Given the description of an element on the screen output the (x, y) to click on. 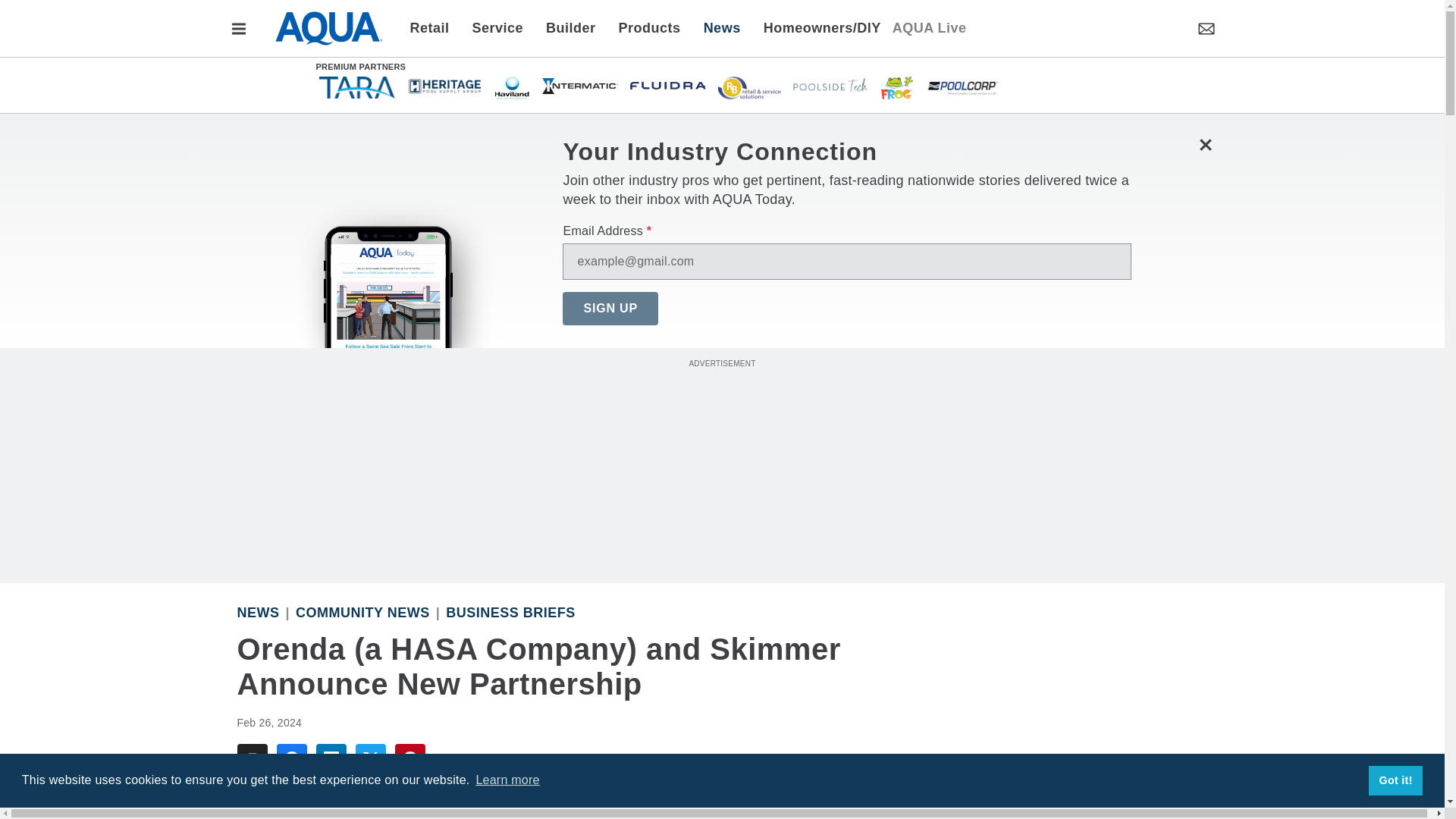
Retail (434, 27)
News (722, 27)
Service (498, 27)
Products (650, 27)
AQUA Live (929, 27)
Learn more (507, 780)
Got it! (1395, 780)
Builder (570, 27)
